Given the description of an element on the screen output the (x, y) to click on. 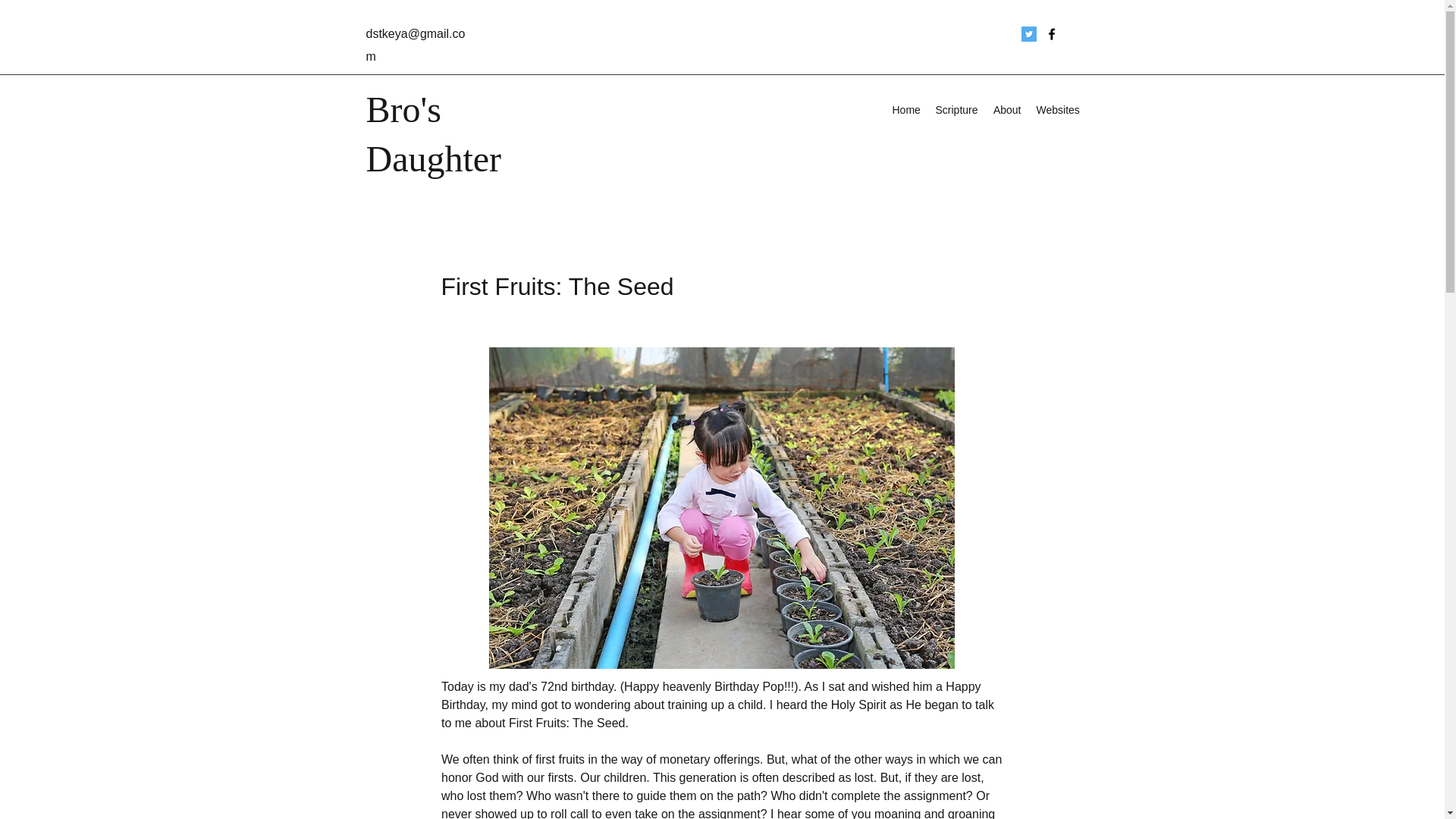
Home (905, 109)
Bro's Daughter (432, 134)
About (1007, 109)
Websites (1056, 109)
Scripture (956, 109)
